Given the description of an element on the screen output the (x, y) to click on. 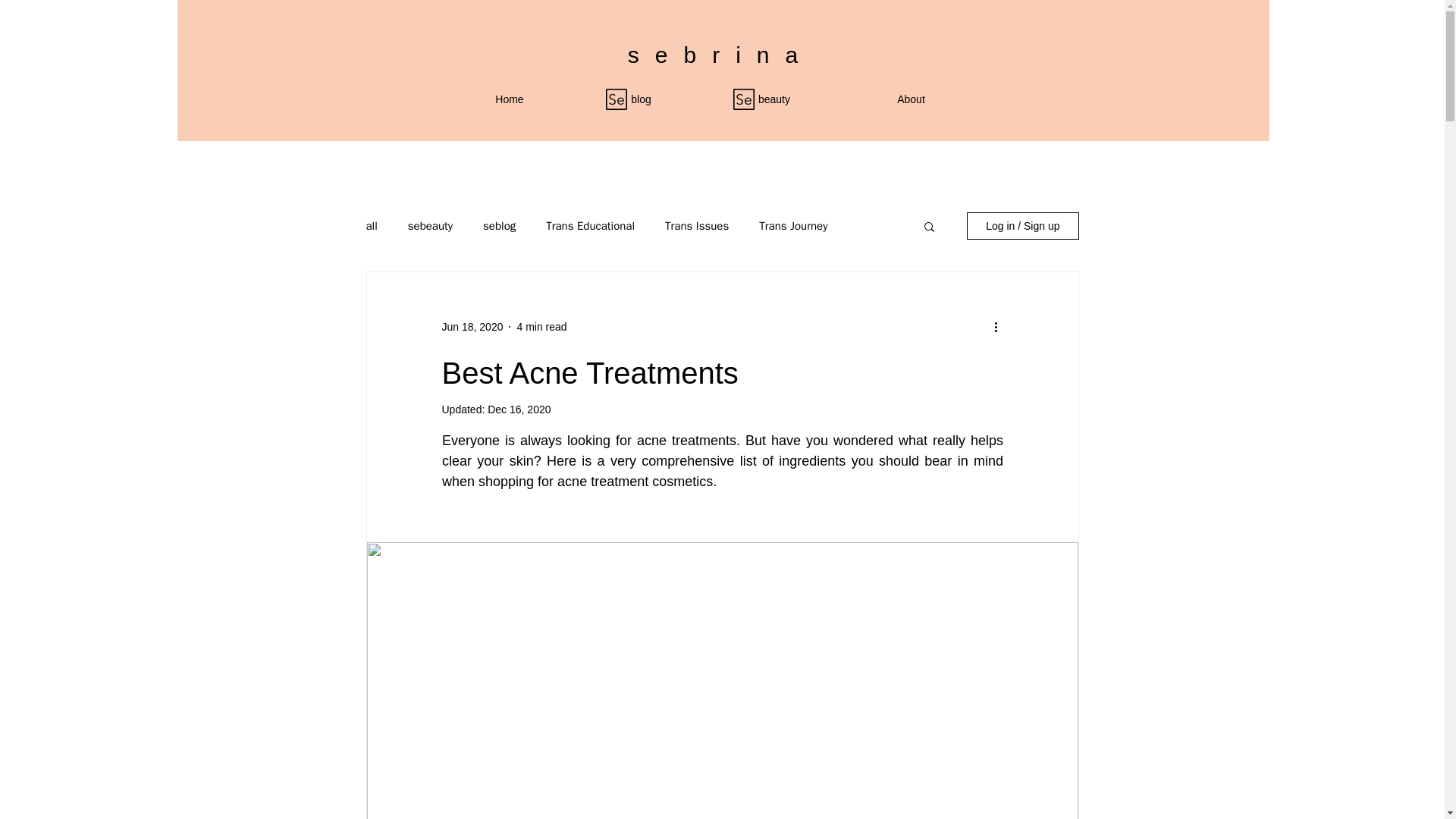
blog (641, 99)
4 min read (541, 326)
Home (508, 99)
Trans Issues (697, 225)
About (910, 99)
seblog (499, 225)
beauty (774, 99)
Dec 16, 2020 (518, 409)
sebeauty (429, 225)
Trans Educational (590, 225)
Jun 18, 2020 (471, 326)
Trans Journey (792, 225)
